Given the description of an element on the screen output the (x, y) to click on. 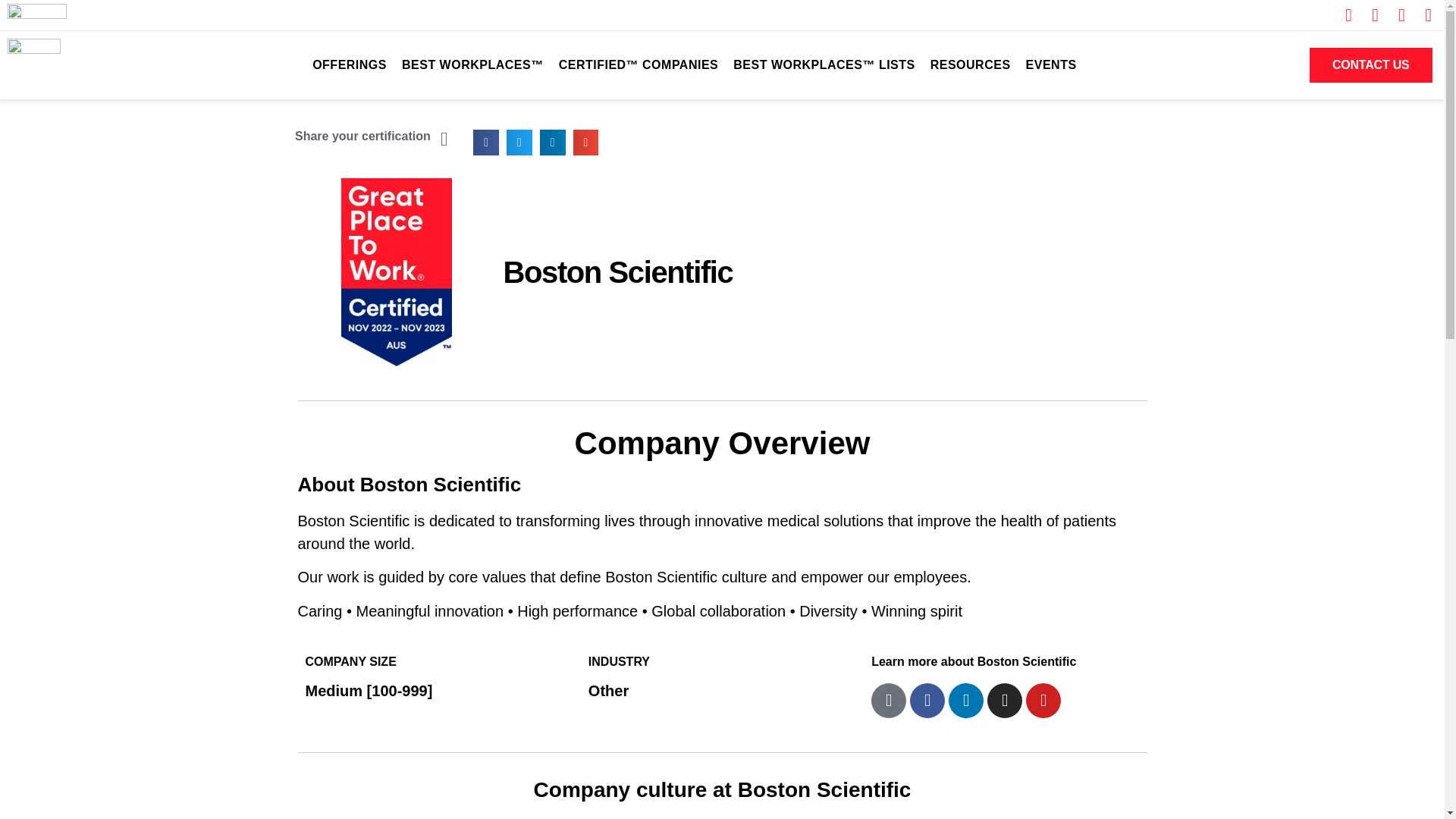
List Item (1422, 14)
RESOURCES (970, 64)
OFFERINGS (349, 64)
